Given the description of an element on the screen output the (x, y) to click on. 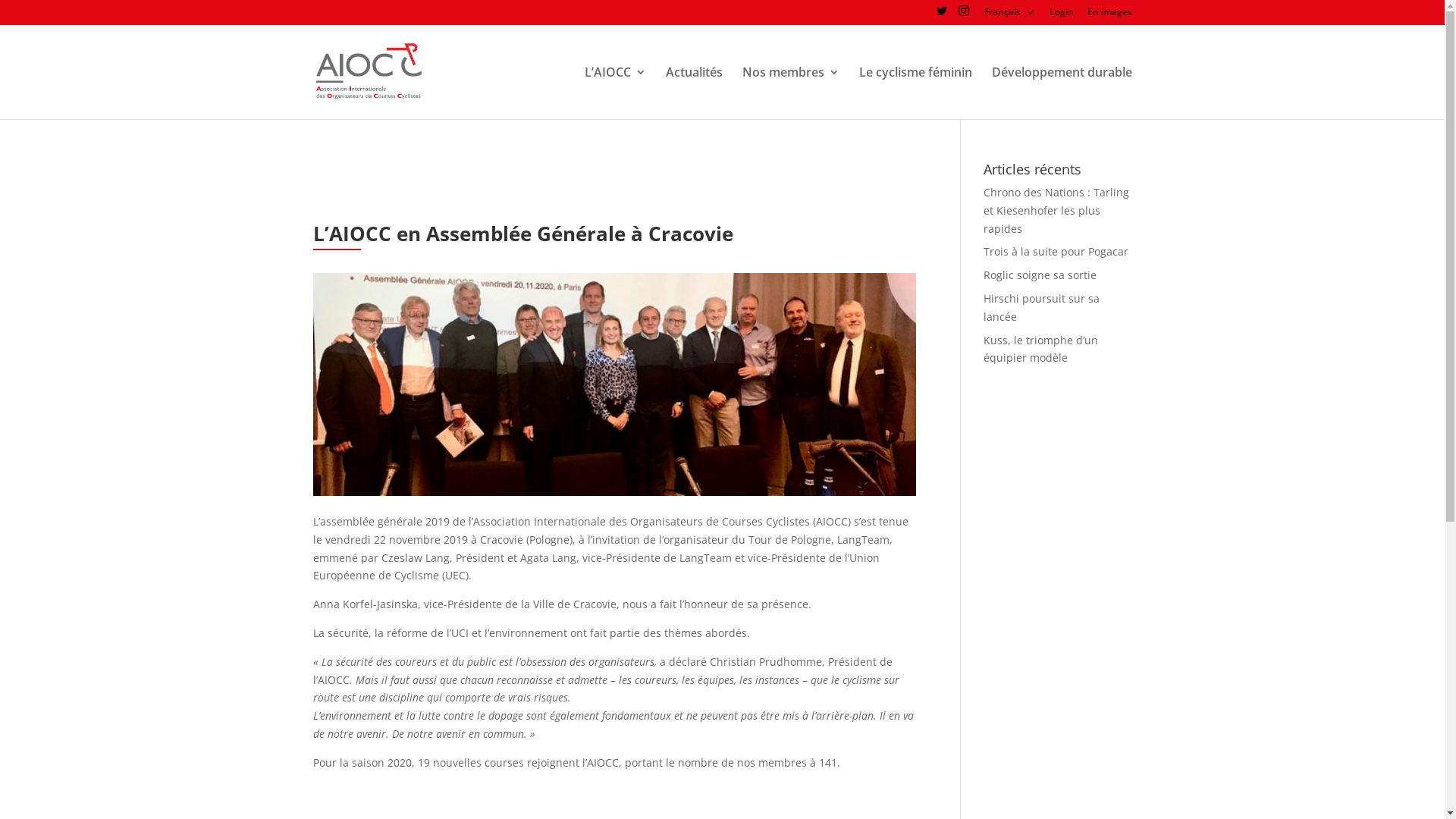
Login Element type: text (1061, 15)
Nos membres Element type: text (789, 92)
Chrono des Nations : Tarling et Kiesenhofer les plus rapides Element type: text (1056, 210)
Roglic soigne sa sortie Element type: text (1039, 274)
En images Element type: text (1109, 15)
